Given the description of an element on the screen output the (x, y) to click on. 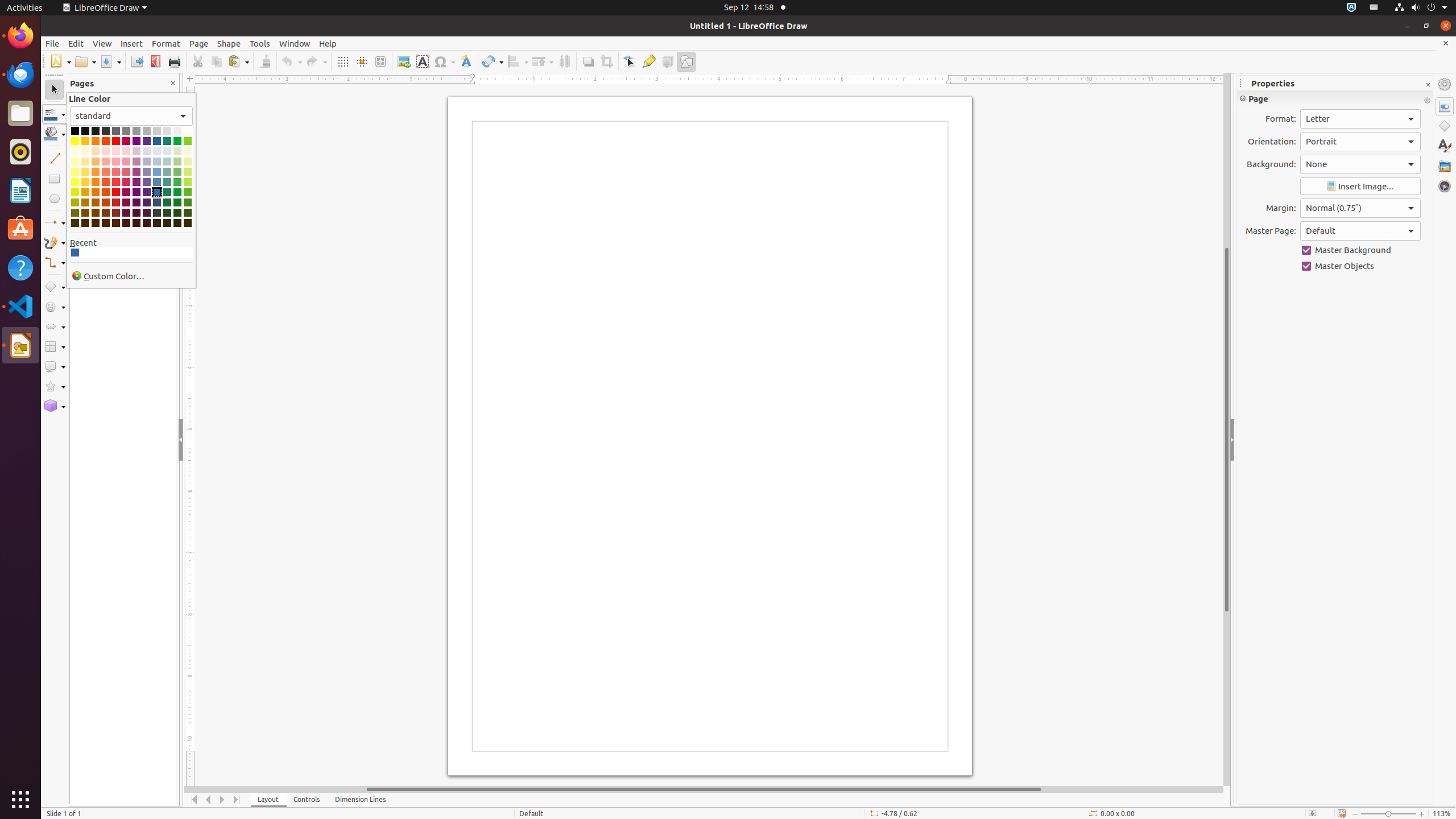
Format Element type: menu (165, 43)
Show Applications Element type: toggle-button (20, 799)
Shapes Element type: radio-button (1444, 126)
Dark Teal 1 Element type: list-item (167, 192)
Dark Purple 2 Element type: list-item (136, 202)
